Given the description of an element on the screen output the (x, y) to click on. 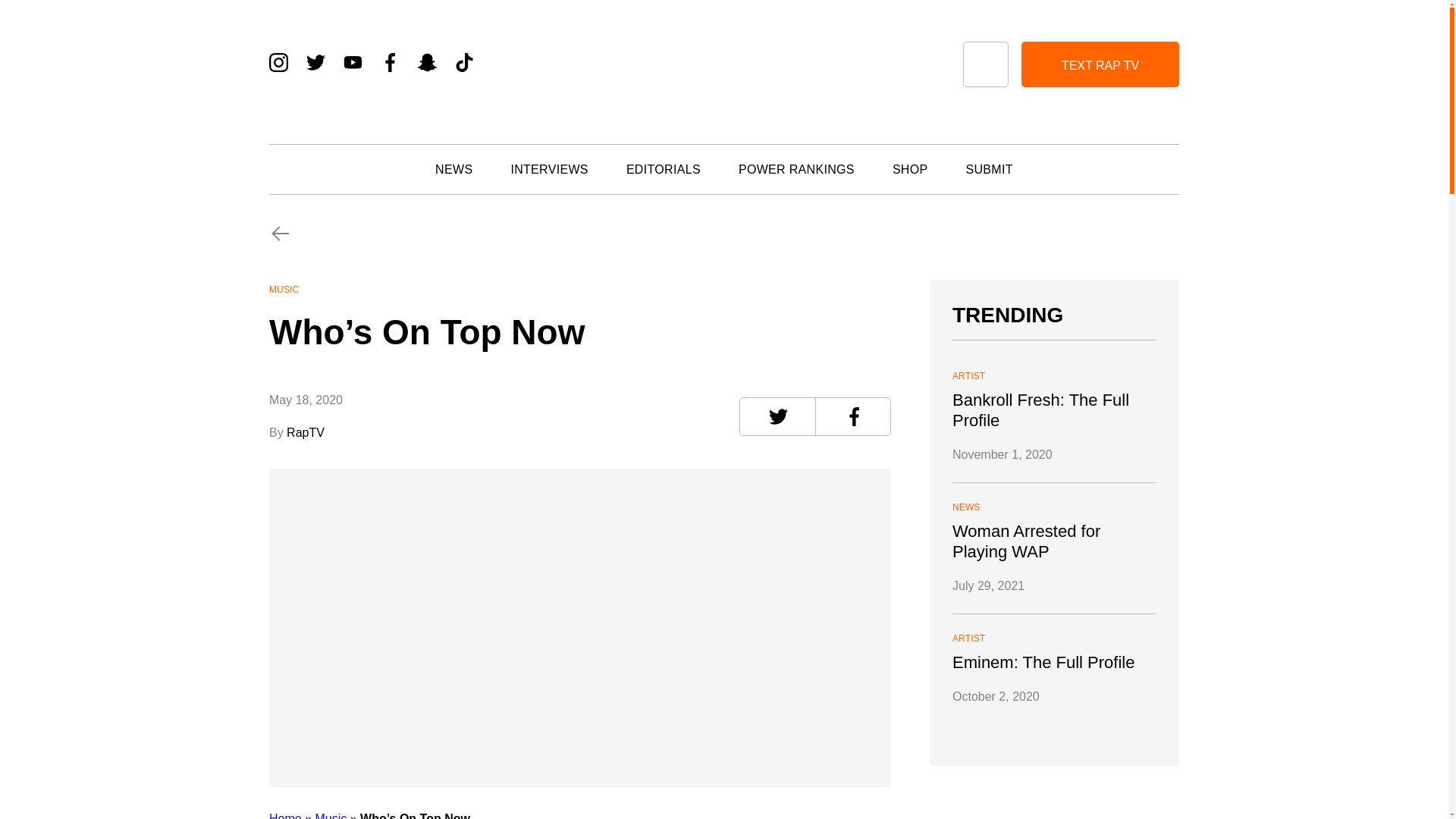
NEWS (453, 169)
TEXT RAP TV (1100, 63)
INTERVIEWS (549, 169)
Music (580, 235)
NEWS (1054, 507)
MUSIC (283, 289)
Bankroll Fresh: The Full Profile (1054, 409)
ARTIST (1054, 638)
Woman Arrested for Playing WAP (1054, 540)
Home (285, 815)
RapTV (303, 431)
Music (330, 815)
ARTIST (1054, 376)
Eminem: The Full Profile (1054, 661)
POWER RANKINGS (796, 169)
